Given the description of an element on the screen output the (x, y) to click on. 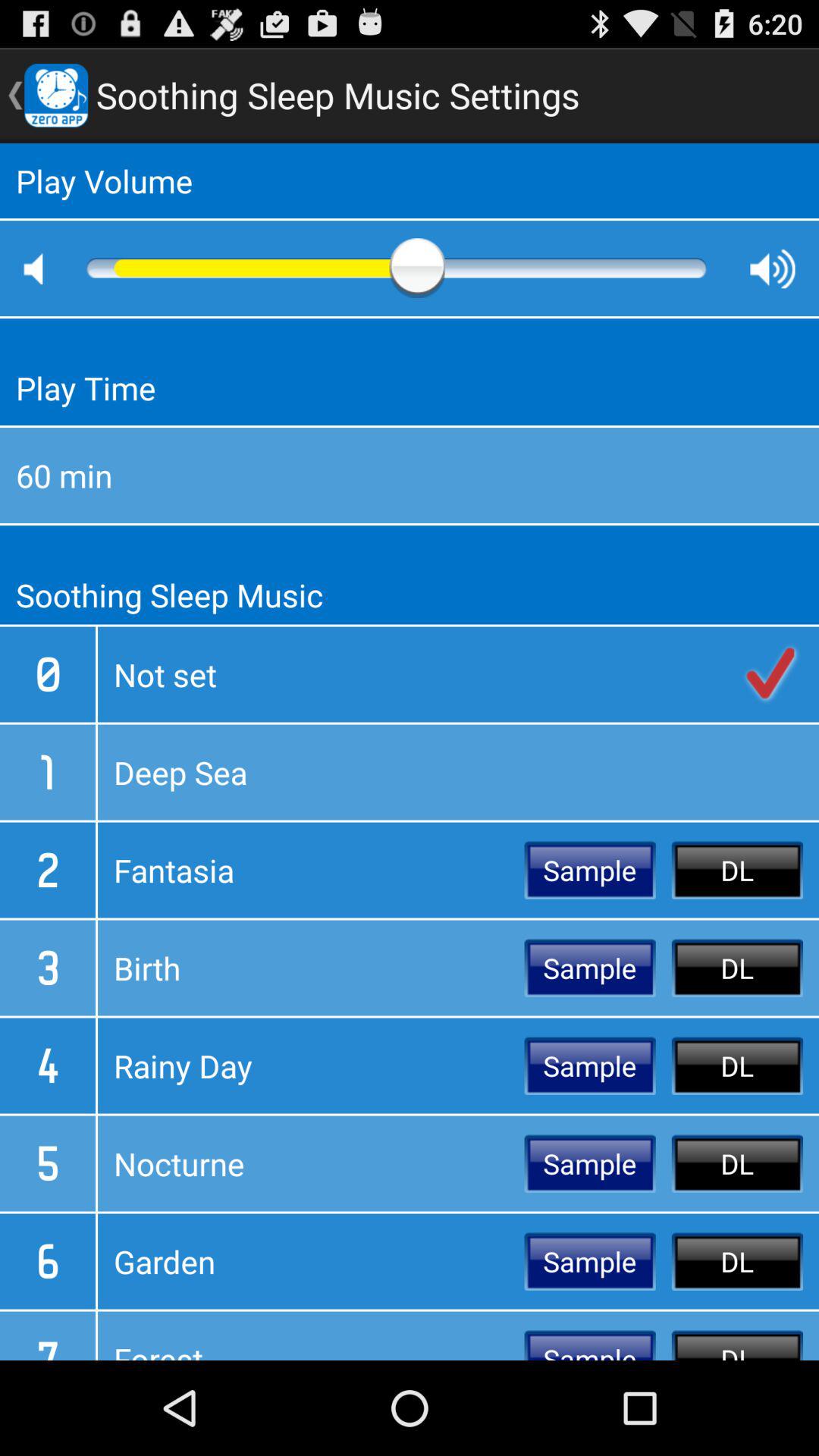
turn on nocturne icon (310, 1163)
